Given the description of an element on the screen output the (x, y) to click on. 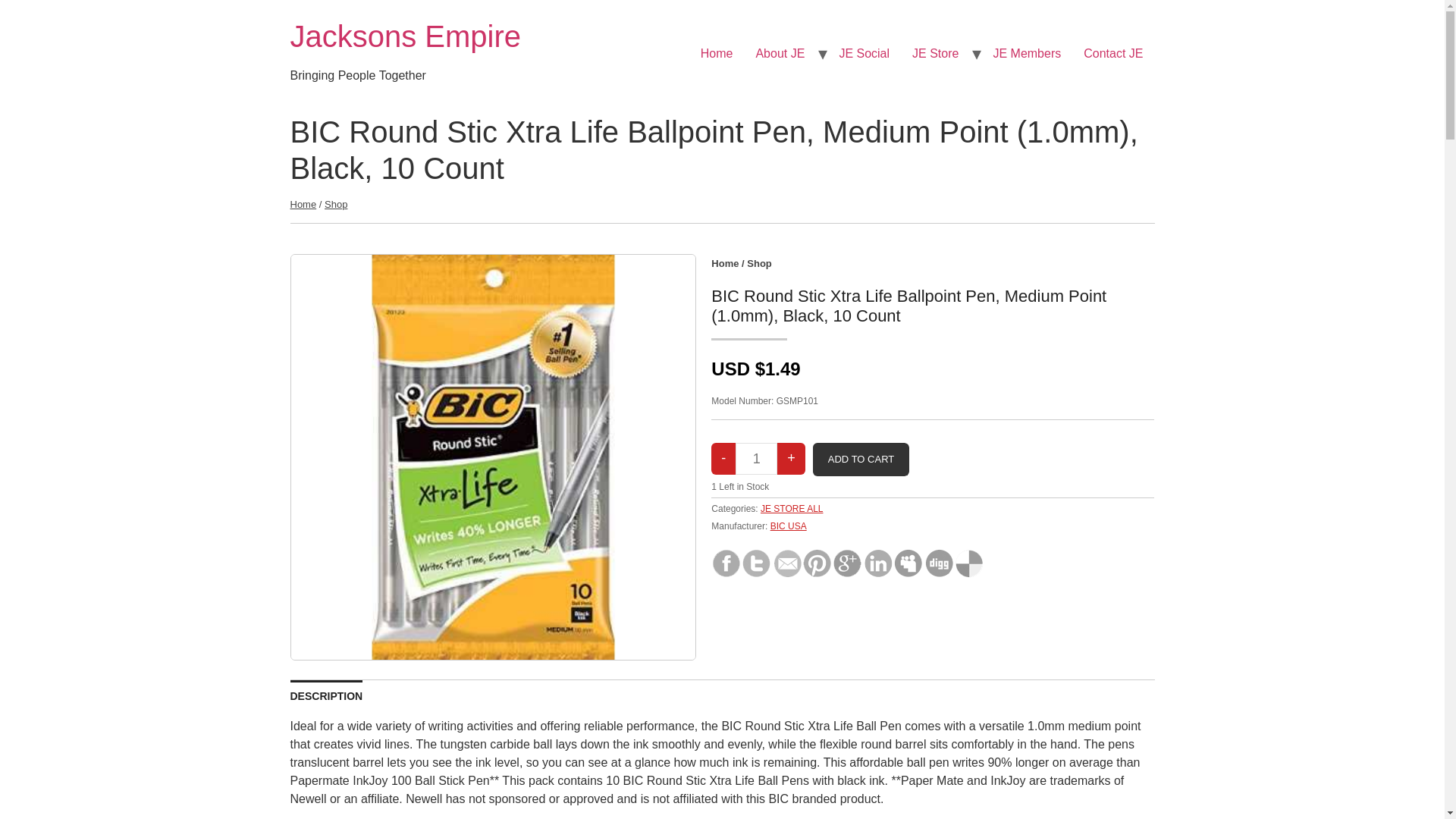
Home (302, 204)
Home (405, 36)
JE Social (864, 53)
Home (724, 263)
JE Store (935, 53)
Shop (335, 204)
ADD TO CART (860, 459)
ADD TO CART (860, 459)
Shop (758, 263)
Home (716, 53)
BIC USA (788, 525)
1 (756, 459)
Jacksons Empire (405, 36)
Contact JE (1112, 53)
About JE (779, 53)
